Given the description of an element on the screen output the (x, y) to click on. 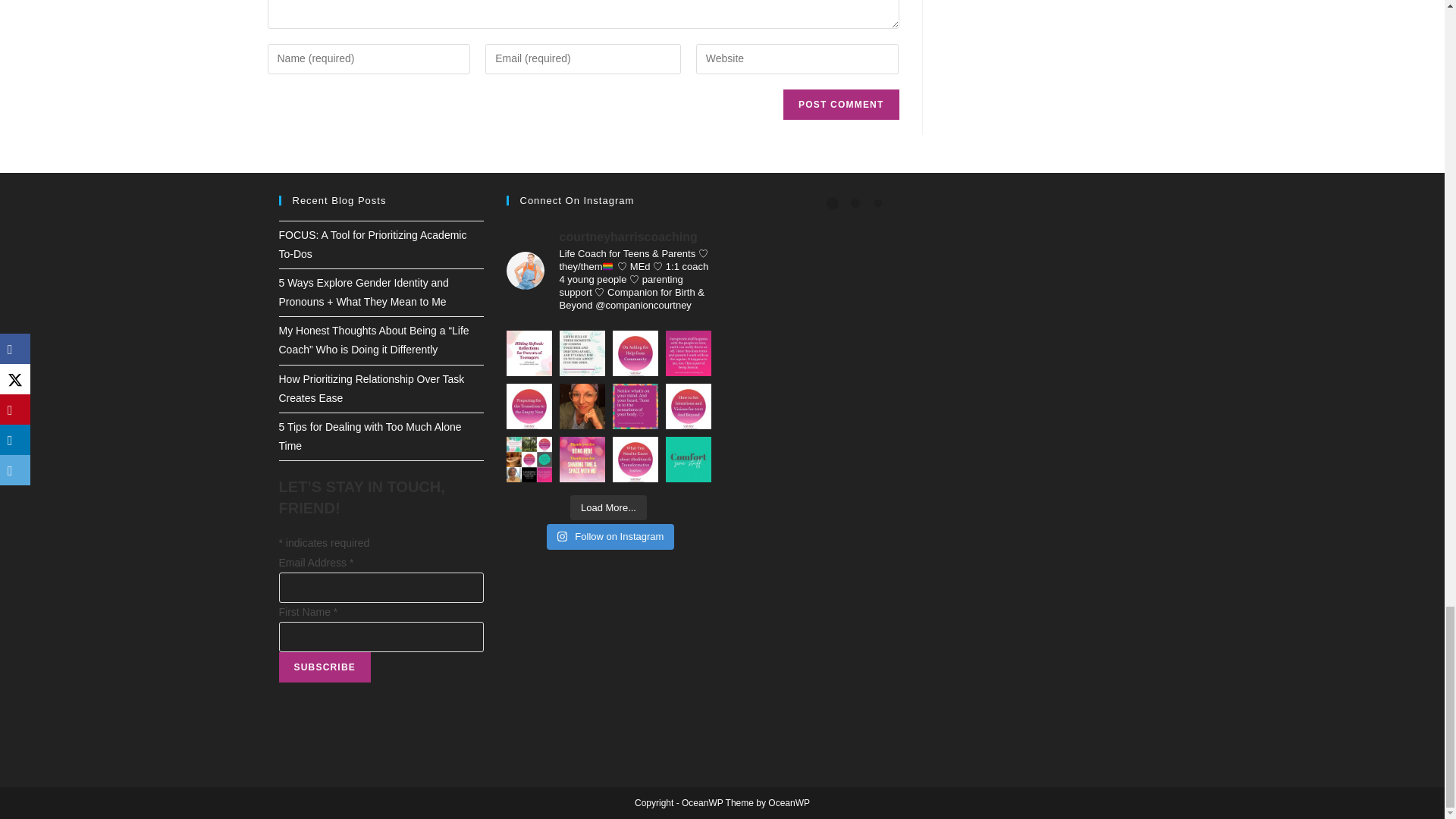
Subscribe (325, 666)
Post Comment (840, 104)
